Given the description of an element on the screen output the (x, y) to click on. 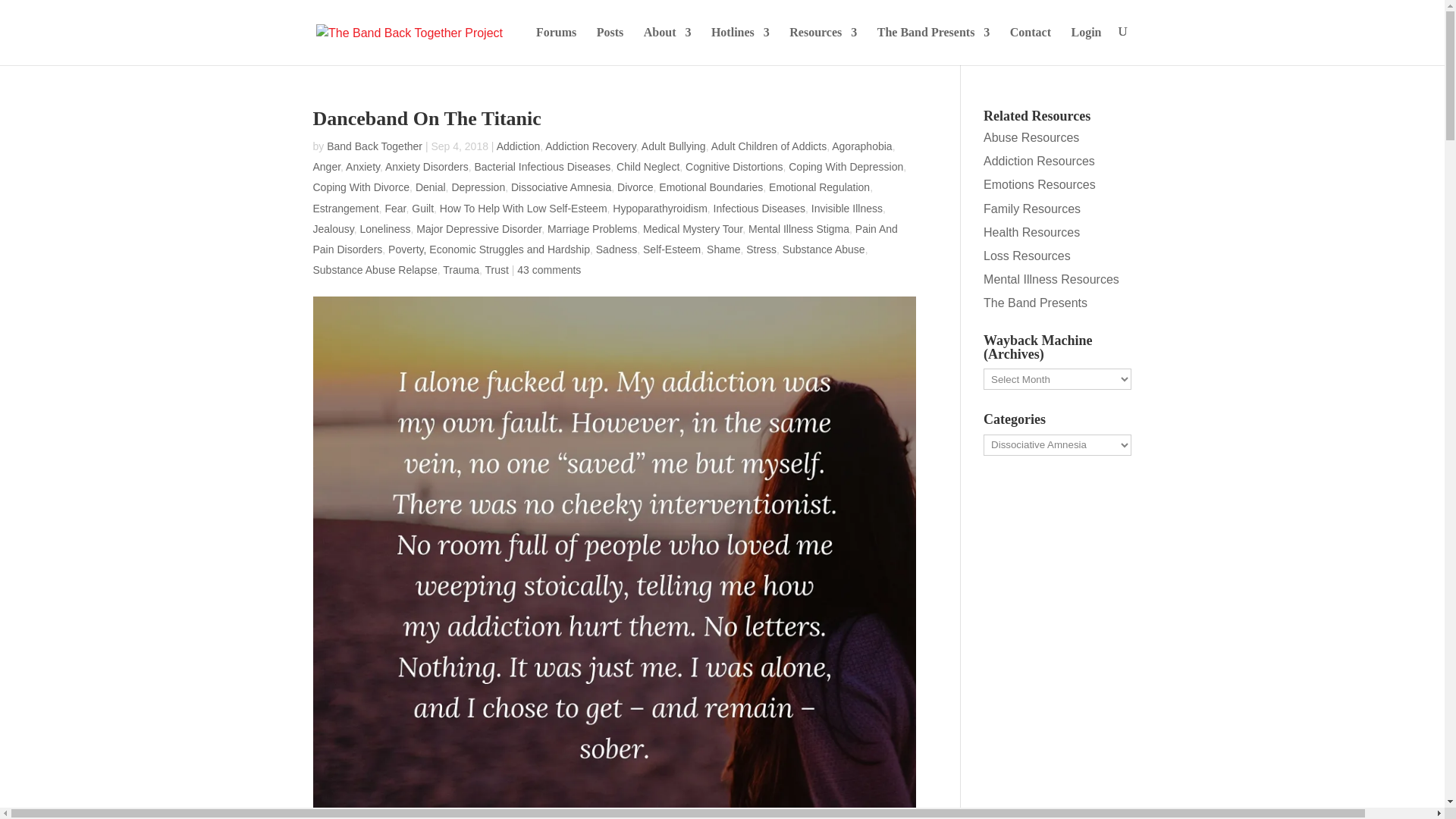
Hotlines (740, 45)
About (667, 45)
Posts by Band Back Together (374, 146)
Forums (555, 45)
Resources (823, 45)
